Given the description of an element on the screen output the (x, y) to click on. 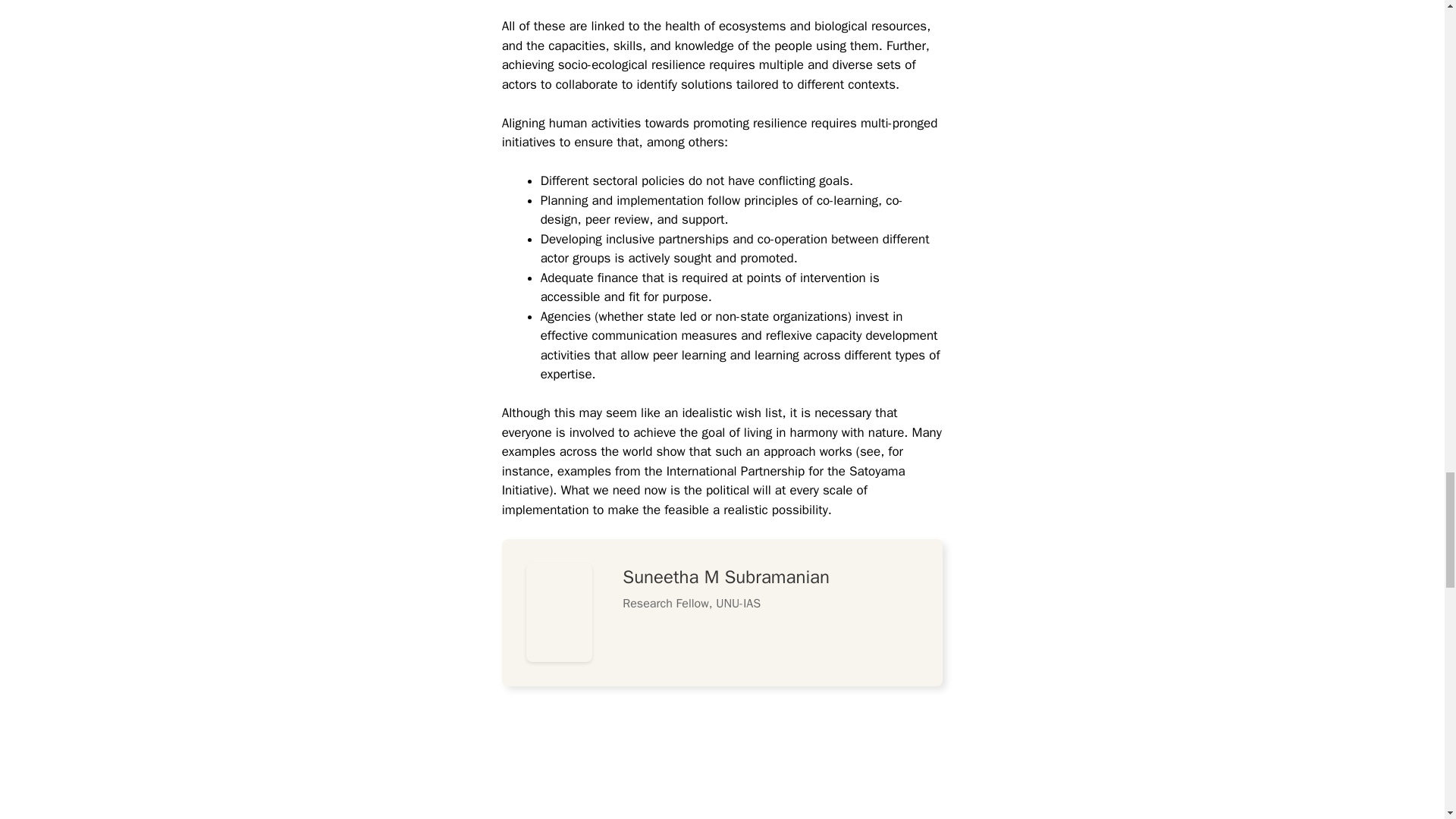
International Partnership for the Satoyama Initiative (703, 480)
Suneetha M Subramanian (726, 576)
